Given the description of an element on the screen output the (x, y) to click on. 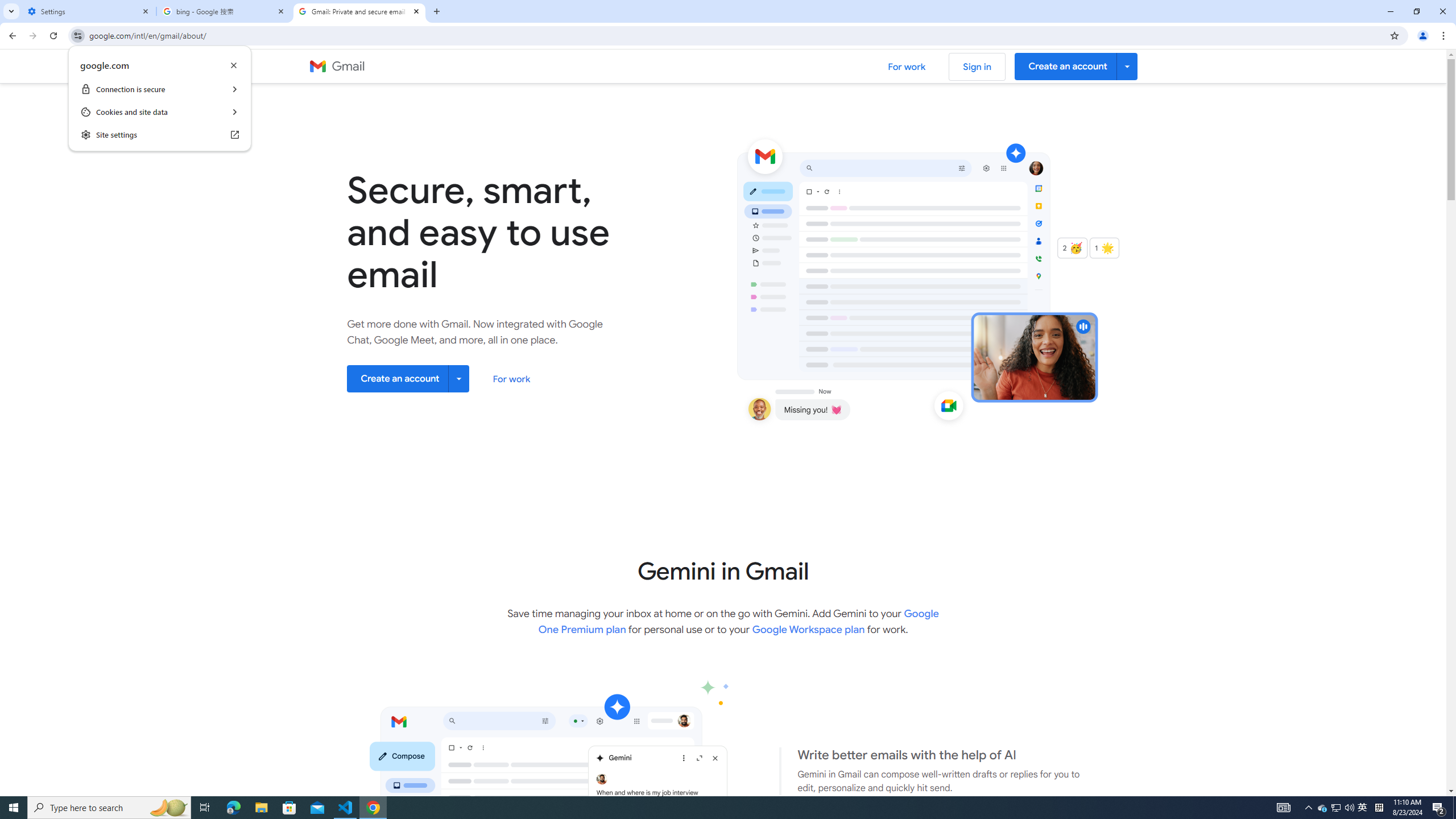
Task View (204, 807)
Google Workspace plan (1322, 807)
Start (807, 629)
User Promoted Notification Area (13, 807)
Show desktop (1336, 807)
Tray Input Indicator - Chinese (Simplified, China) (1454, 807)
Google Gemini helping write an email. (1378, 807)
